Given the description of an element on the screen output the (x, y) to click on. 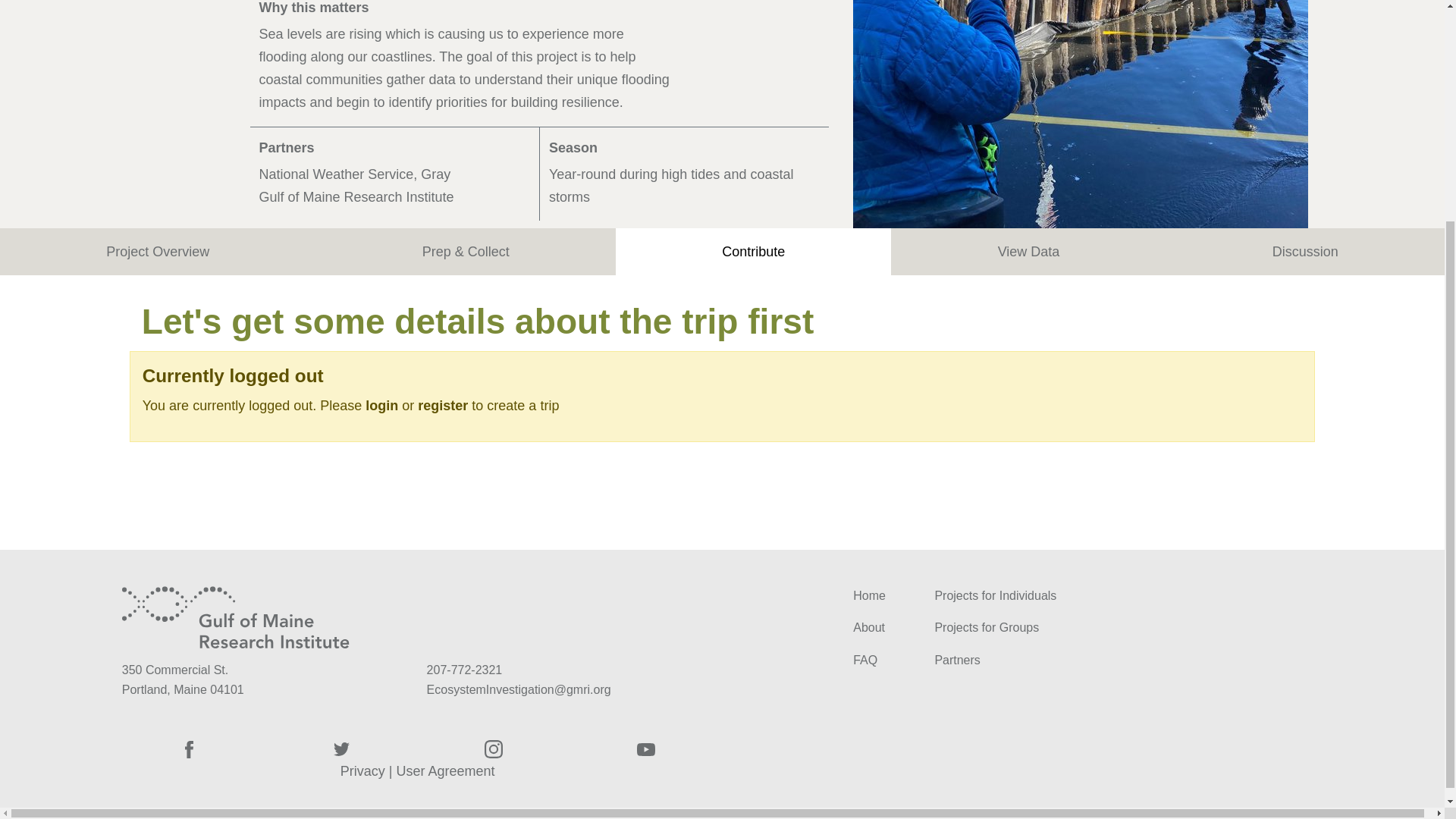
Projects for Groups (986, 626)
About (869, 626)
register (442, 405)
Home (869, 594)
FAQ (865, 659)
Contribute (753, 251)
Project Overview (157, 251)
207-772-2321 (464, 669)
Partners (956, 659)
Discussion (1305, 251)
